Given the description of an element on the screen output the (x, y) to click on. 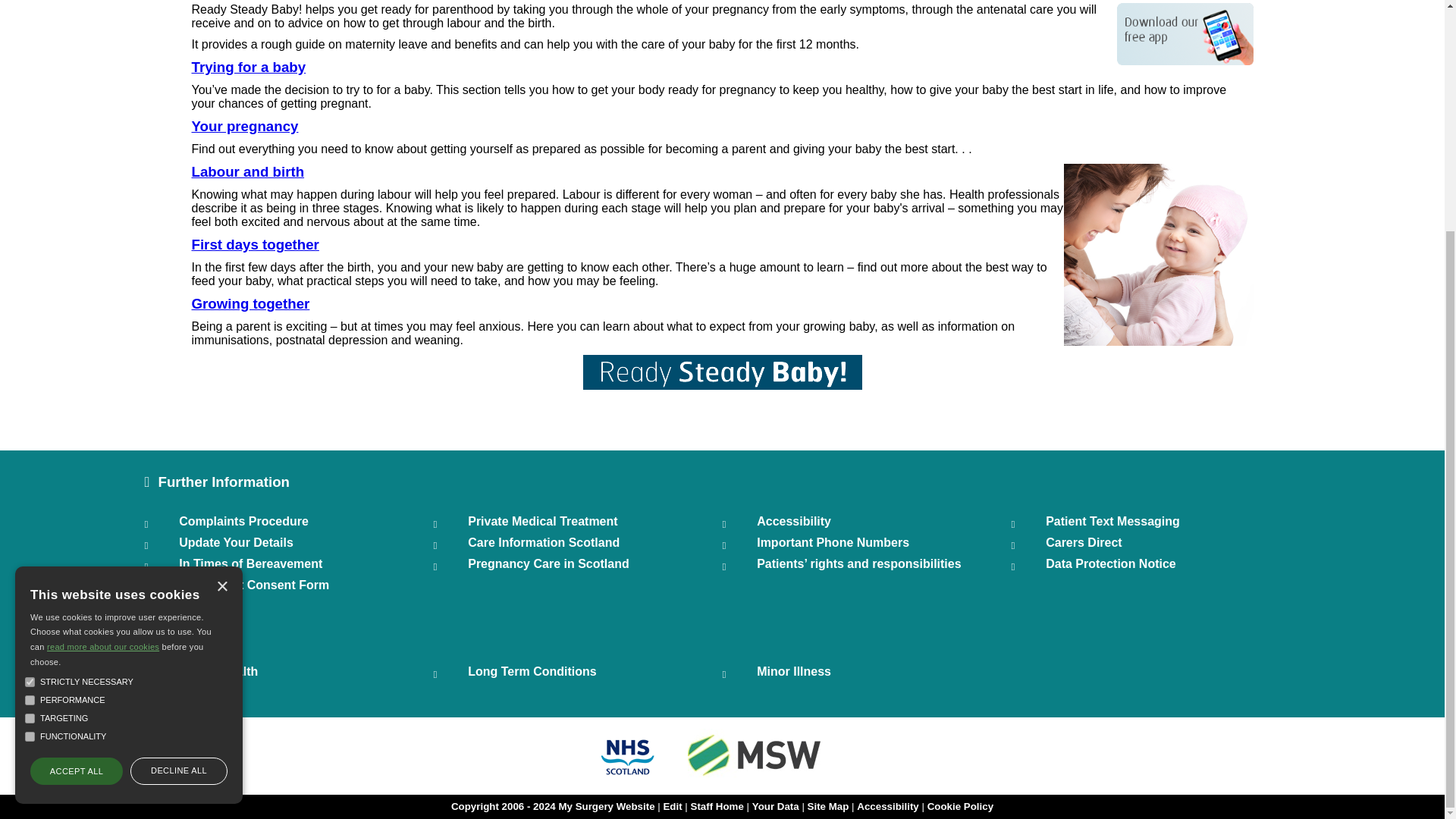
NHS Scotland (627, 777)
strict (29, 368)
performance (29, 387)
ACCEPT ALL (76, 457)
DECLINE ALL (179, 457)
targeting (29, 405)
functionality (29, 423)
read more about our cookies (102, 333)
